Given the description of an element on the screen output the (x, y) to click on. 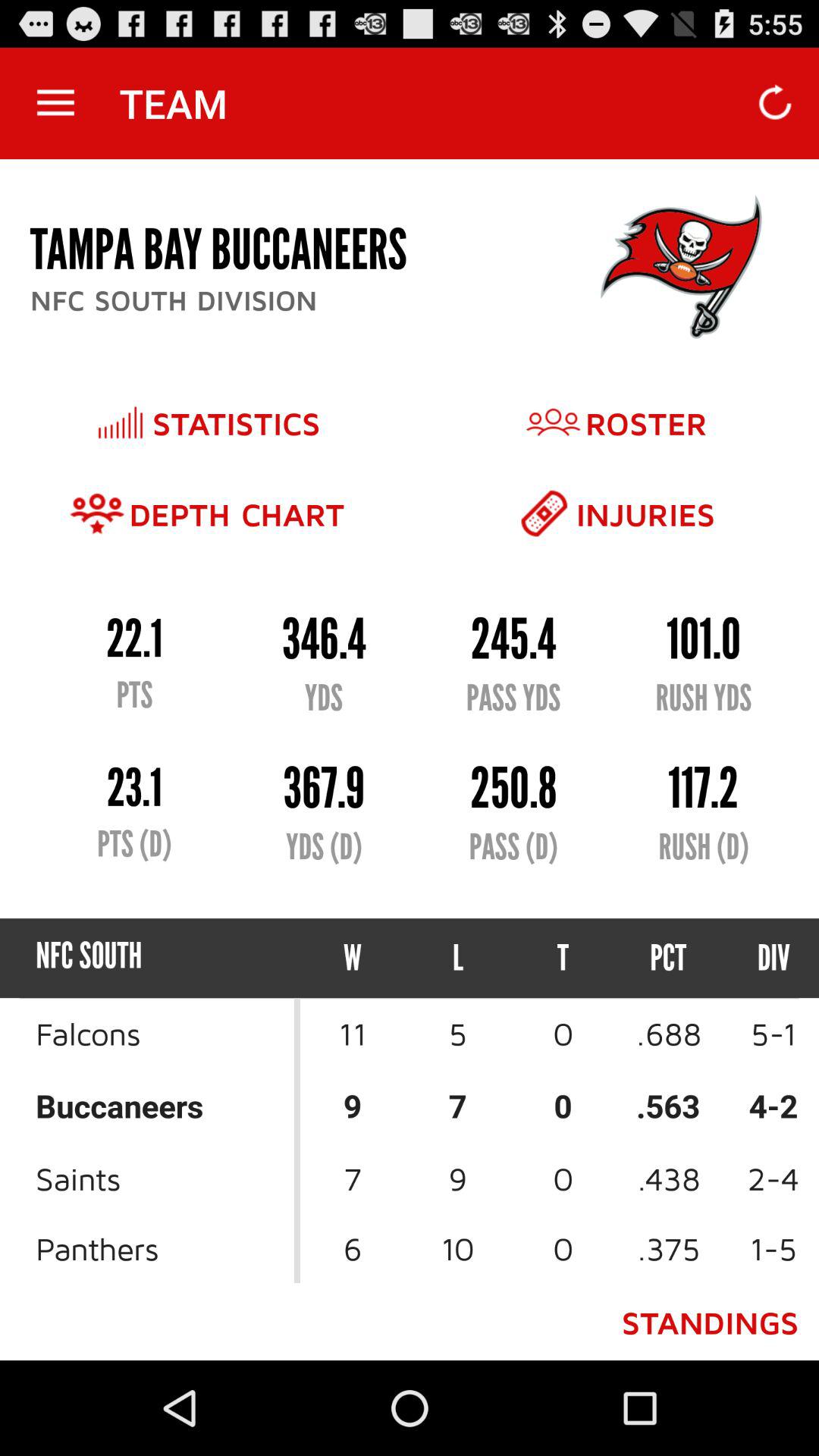
tap the icon to the left of the l (352, 958)
